Given the description of an element on the screen output the (x, y) to click on. 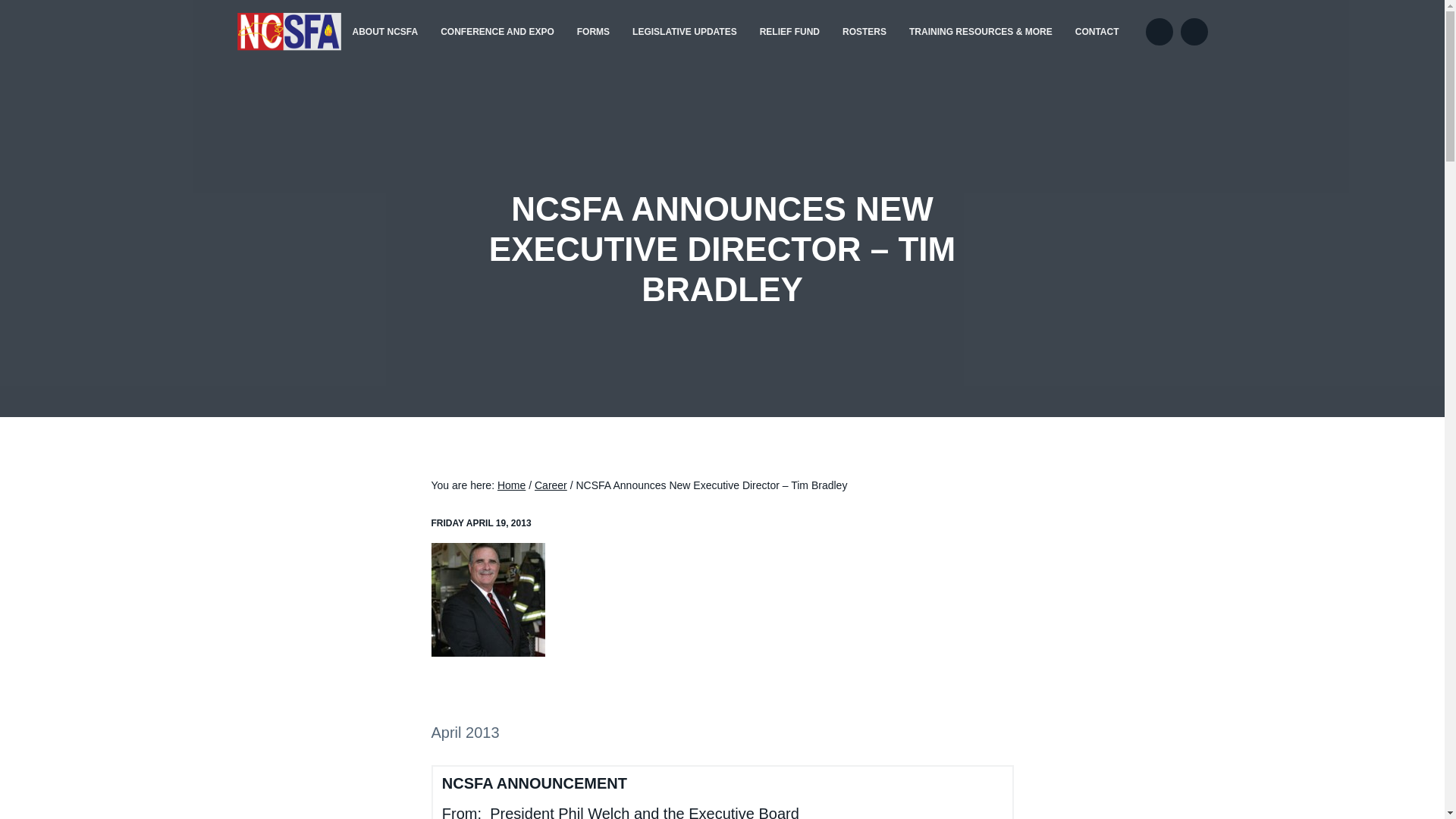
CONFERENCE AND EXPO (497, 31)
ABOUT NCSFA (384, 31)
NCSFA (258, 56)
LEGISLATIVE UPDATES (684, 31)
